Given the description of an element on the screen output the (x, y) to click on. 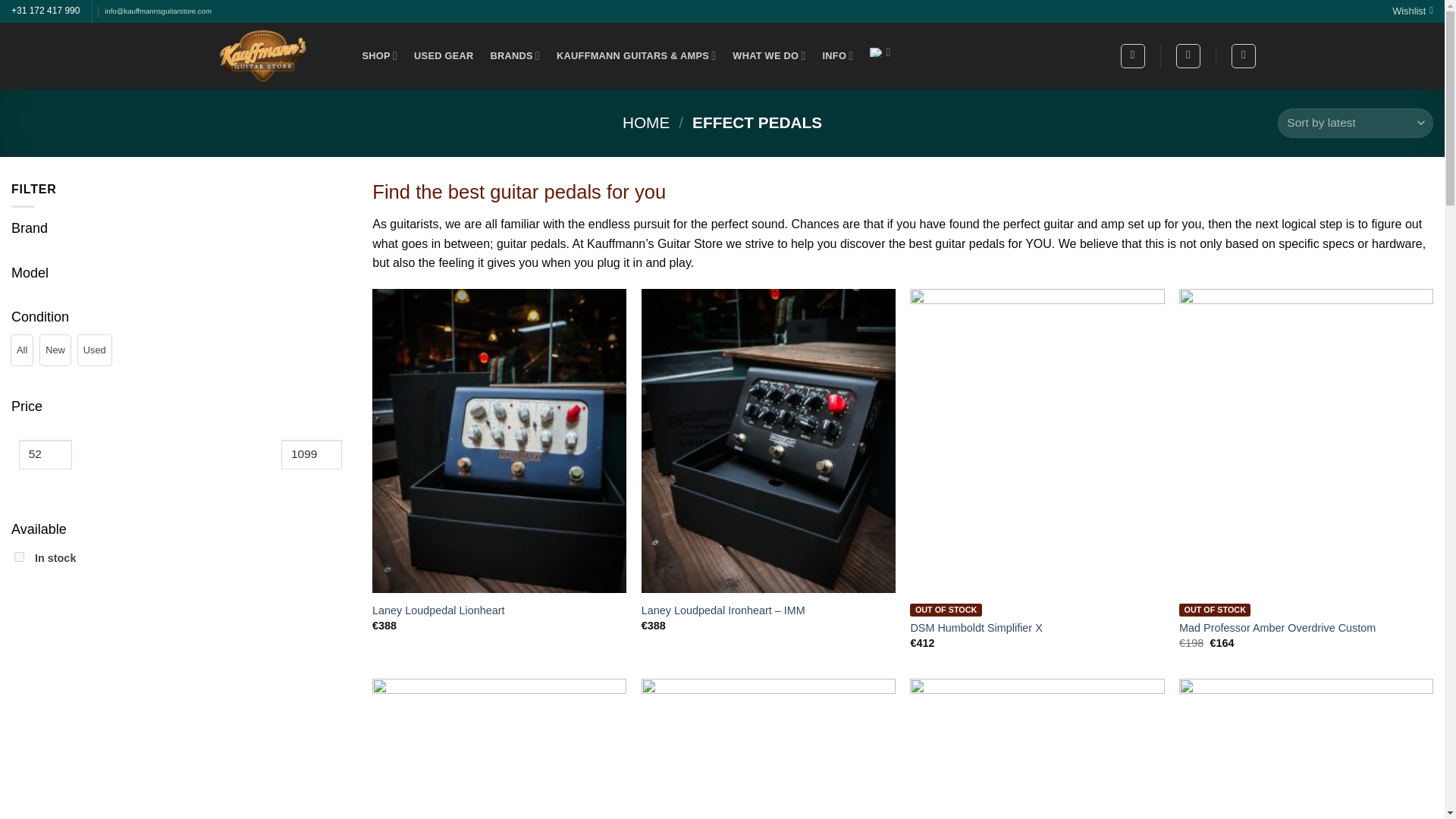
52 (44, 454)
SHOP (379, 55)
BRANDS (514, 55)
Login (1187, 55)
USED GEAR (443, 55)
1099 (311, 454)
Wishlist (1411, 11)
Cart (1243, 55)
Wishlist (1411, 11)
Kauffmann's Guitar Store - Vintage Vibe Guitars (263, 55)
1 (19, 556)
